Given the description of an element on the screen output the (x, y) to click on. 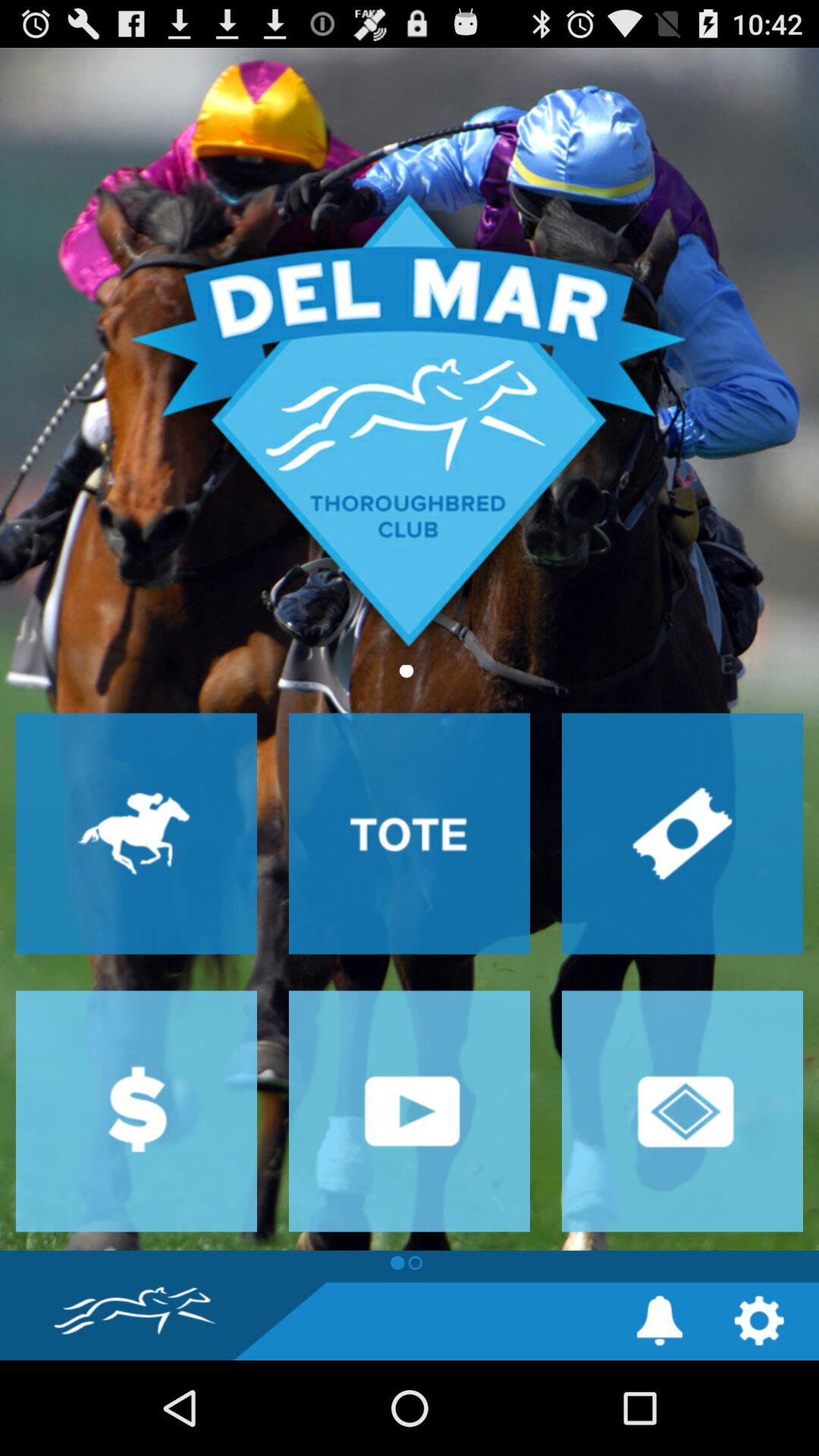
view notifications (659, 1320)
